Given the description of an element on the screen output the (x, y) to click on. 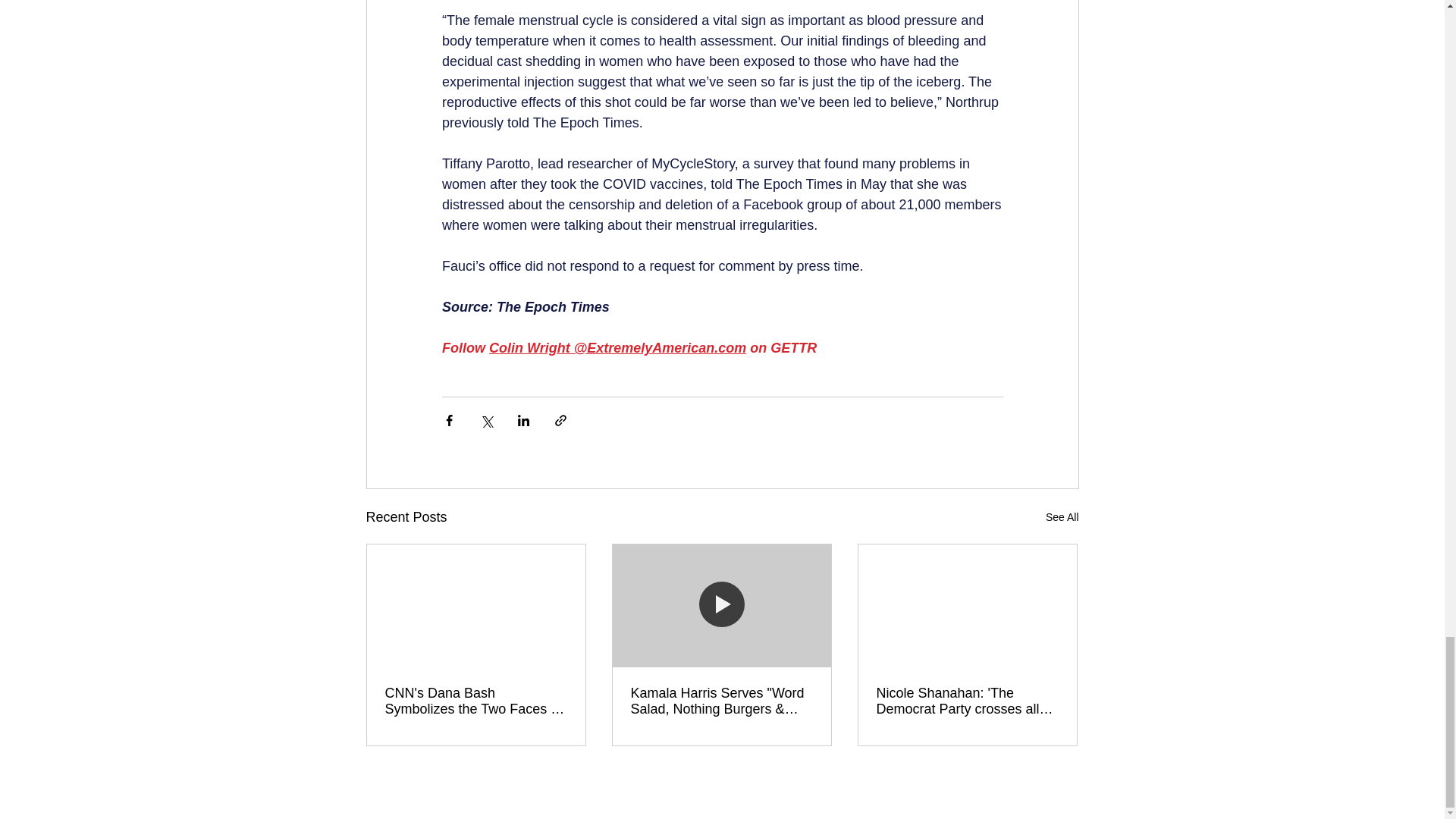
See All (1061, 517)
 on GETTR (780, 347)
Follow  (464, 347)
The Epoch Times (585, 122)
